Given the description of an element on the screen output the (x, y) to click on. 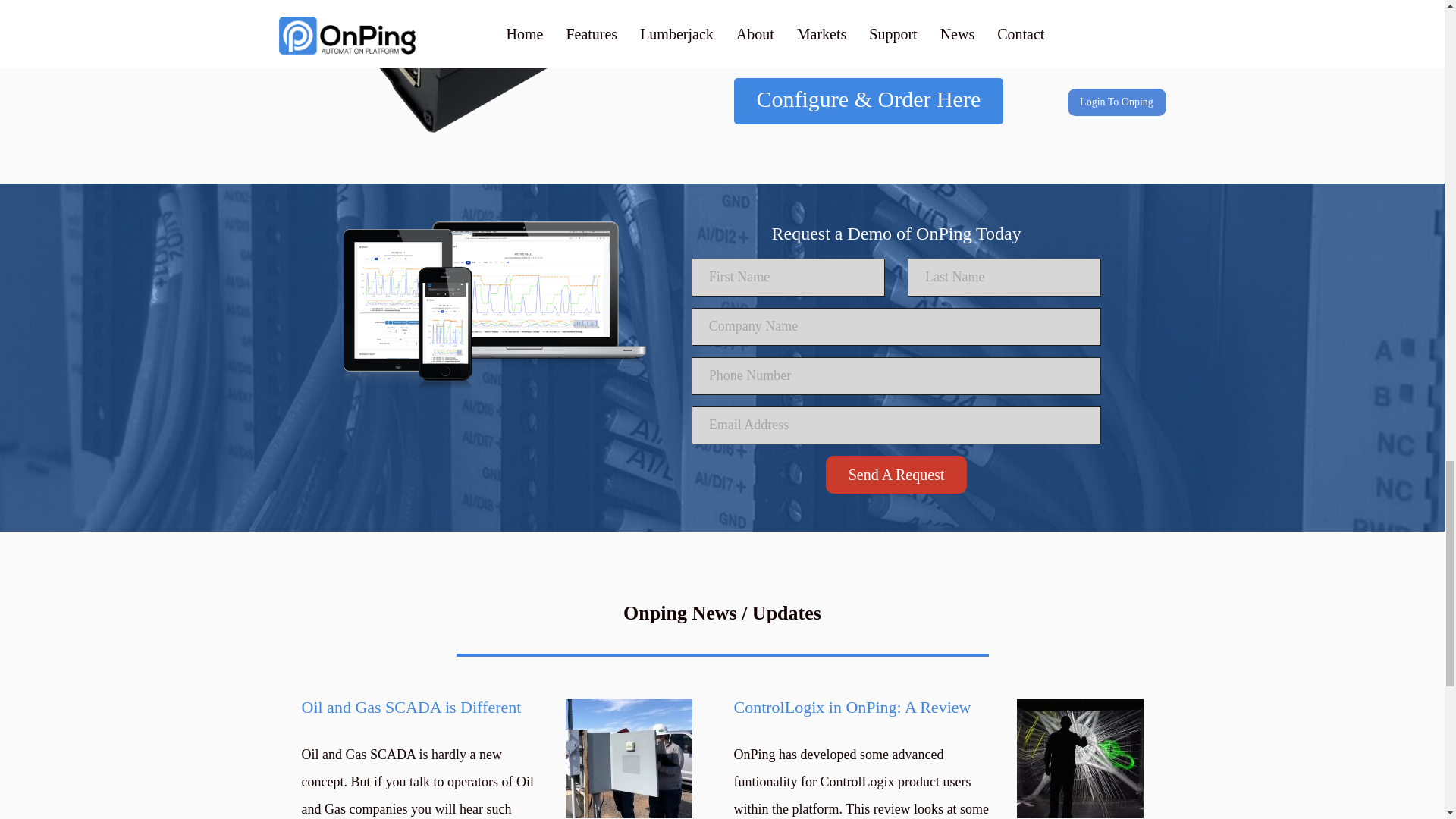
Send A Request (896, 474)
Oil and Gas SCADA is Different (424, 707)
Send A Request (896, 474)
ControlLogix in OnPing: A Review (866, 707)
